Given the description of an element on the screen output the (x, y) to click on. 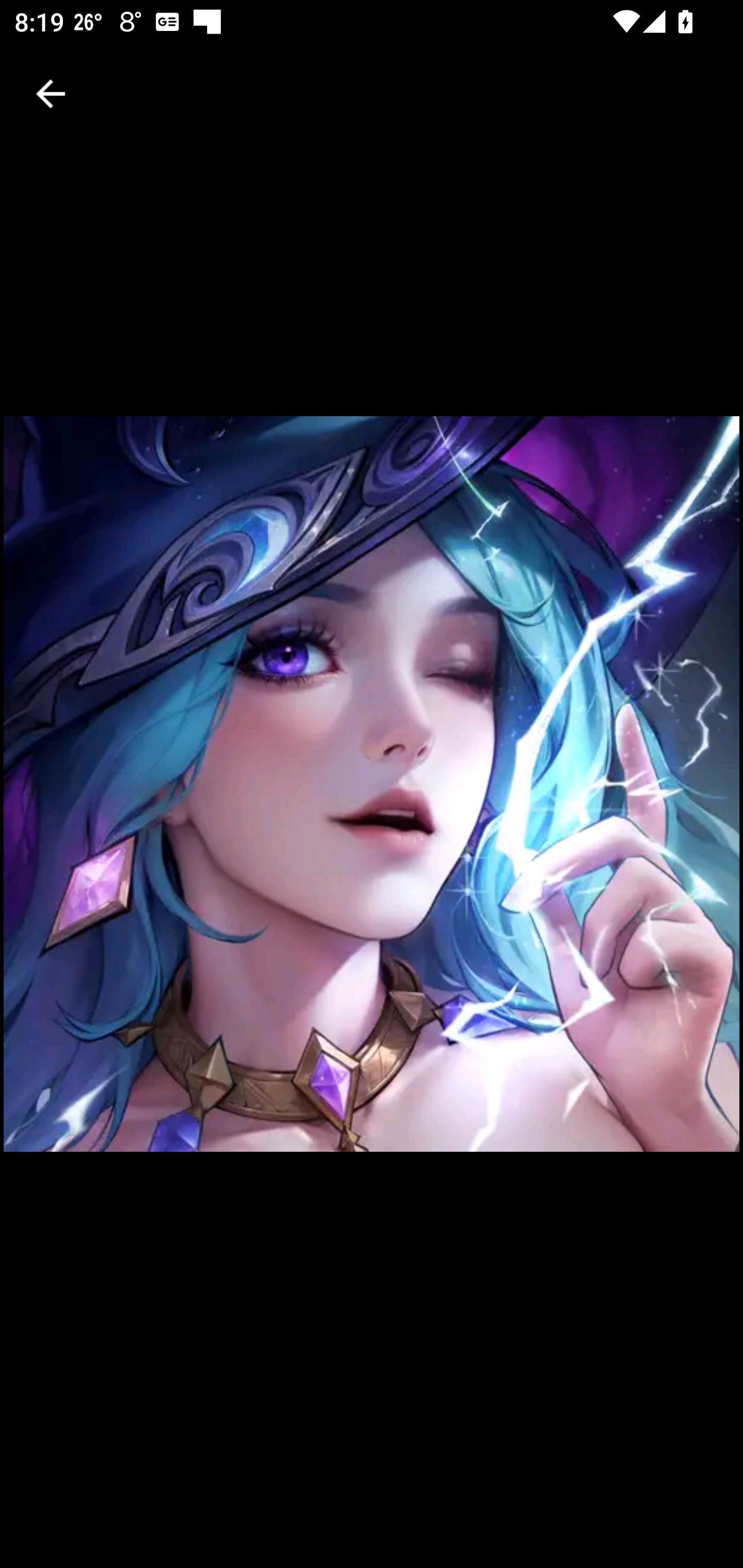
Back (50, 93)
